Given the description of an element on the screen output the (x, y) to click on. 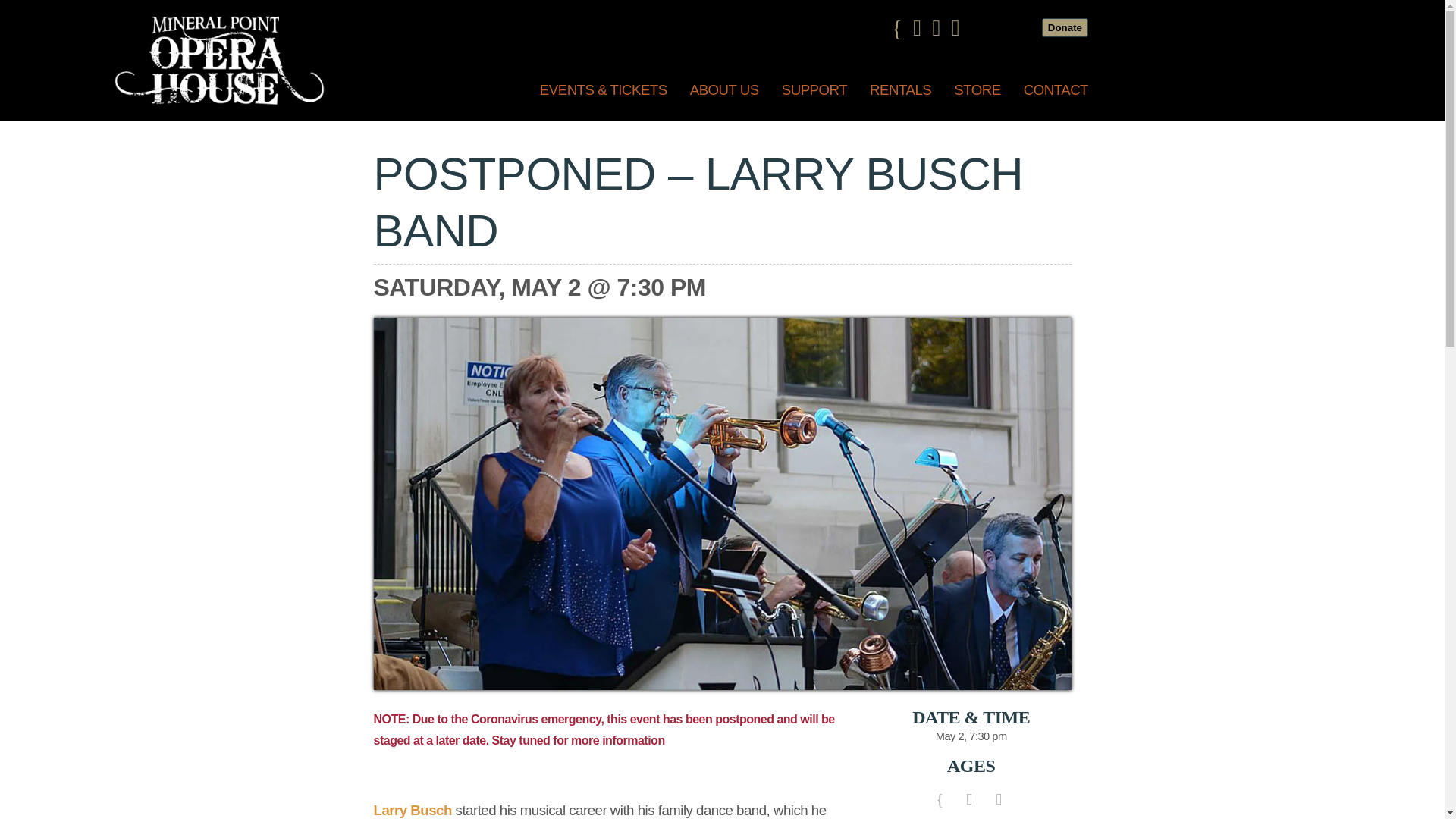
ABOUT US (724, 94)
Facebook (902, 28)
Share via Facebook (939, 798)
Share via Twitter (968, 798)
STORE (976, 94)
Mineral Point Opera House (218, 101)
SUPPORT (814, 94)
CONTACT (1055, 94)
Share via email (998, 798)
Donate (1064, 27)
RENTALS (900, 94)
Larry Busch (412, 810)
